Given the description of an element on the screen output the (x, y) to click on. 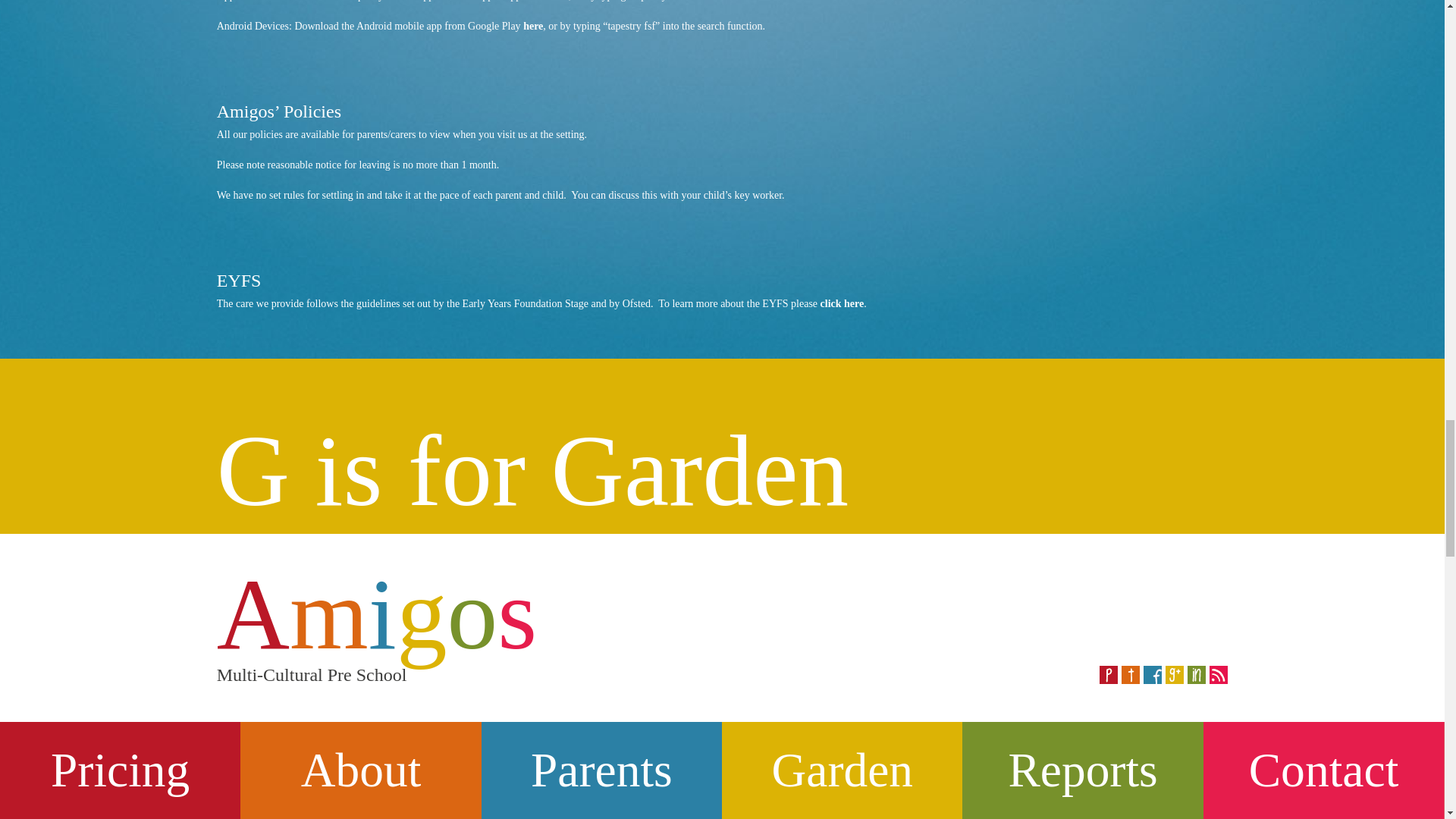
here (532, 25)
here (558, 0)
Cornerstone Community Centre (368, 796)
click here (842, 303)
